Given the description of an element on the screen output the (x, y) to click on. 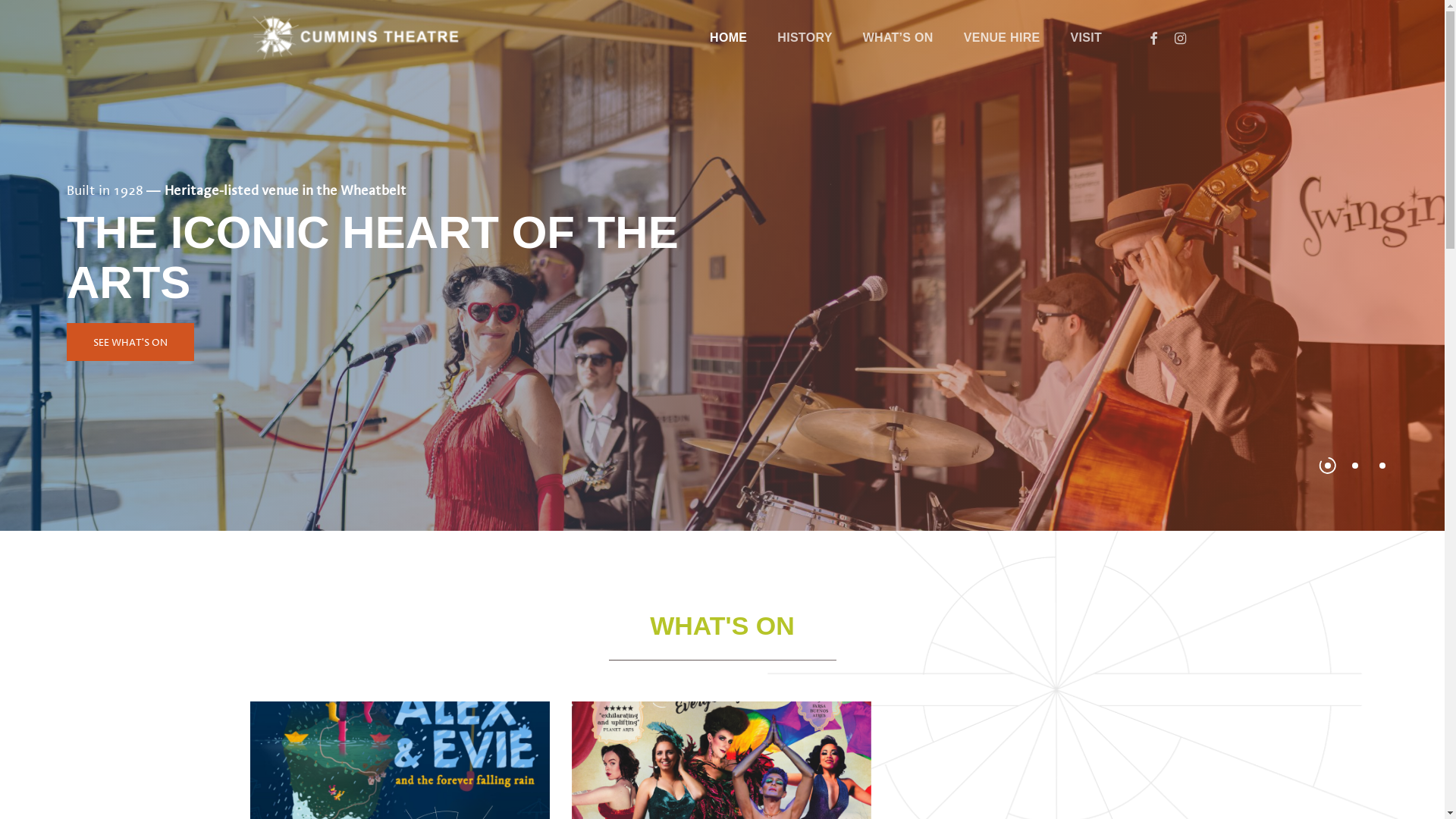
HISTORY Element type: text (804, 37)
VISIT Element type: text (1085, 37)
FACEBOOK Element type: text (1153, 38)
HOME Element type: text (728, 37)
VENUE HIRE Element type: text (1001, 37)
SEE WHAT'S ON Element type: text (130, 341)
INSTAGRAM Element type: text (1180, 38)
